Given the description of an element on the screen output the (x, y) to click on. 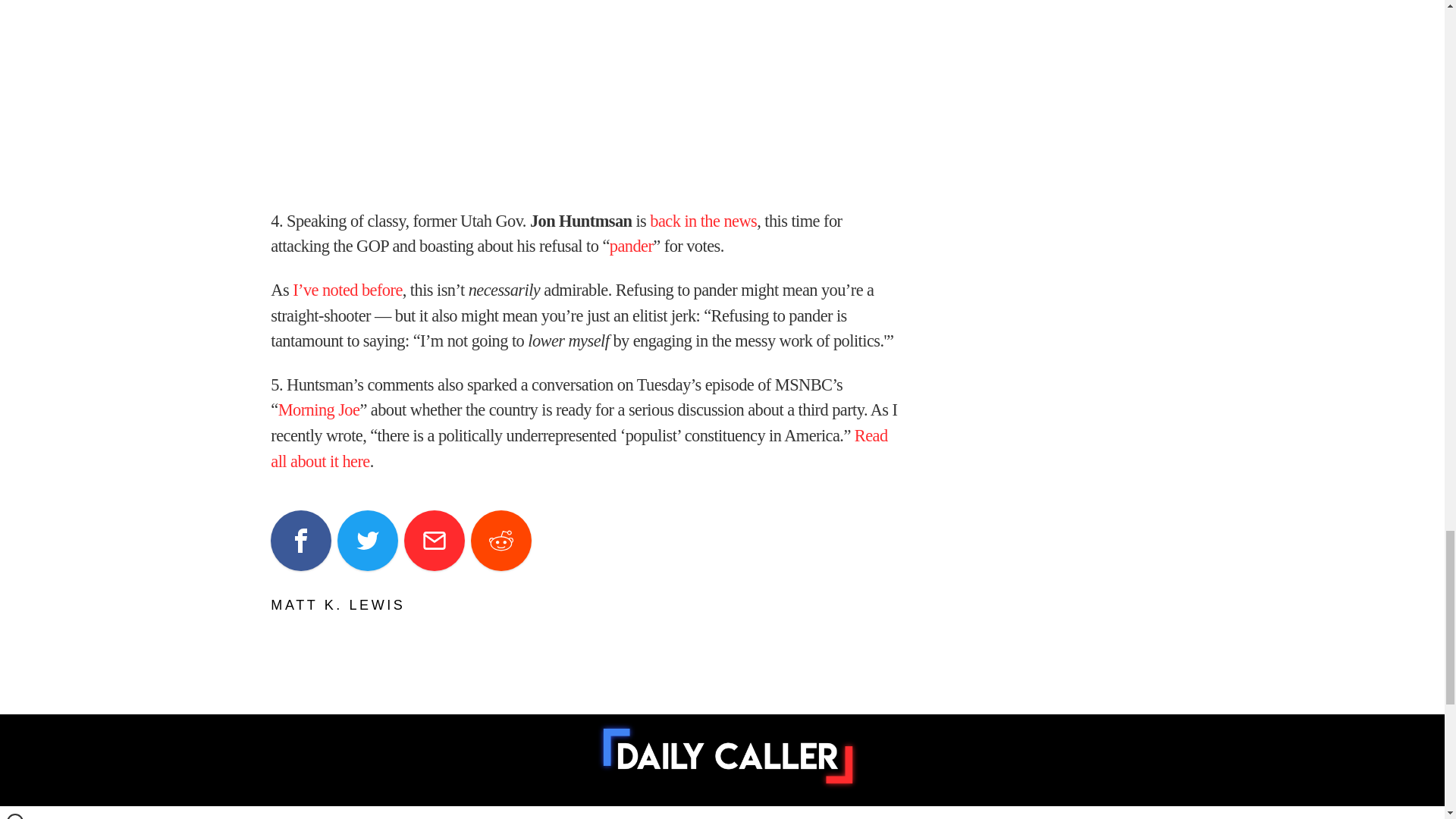
Daily Caller Facebook (633, 814)
To home page (727, 755)
Daily Caller YouTube (852, 814)
Daily Caller YouTube (797, 814)
Daily Caller Twitter (688, 814)
Daily Caller Instagram (742, 814)
